Given the description of an element on the screen output the (x, y) to click on. 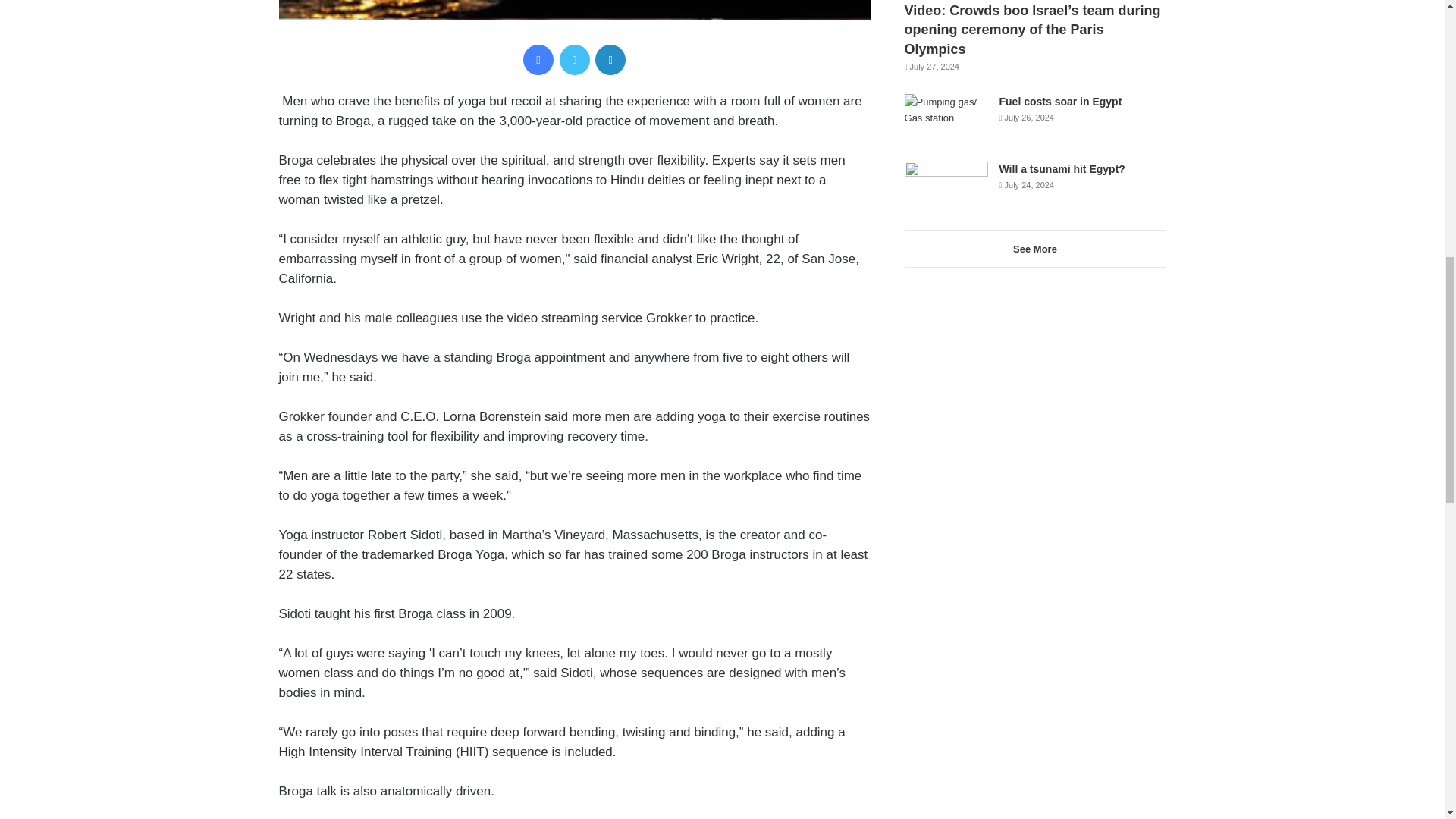
Twitter (574, 60)
Twitter (574, 60)
LinkedIn (610, 60)
LinkedIn (610, 60)
Facebook (537, 60)
Facebook (537, 60)
